Given the description of an element on the screen output the (x, y) to click on. 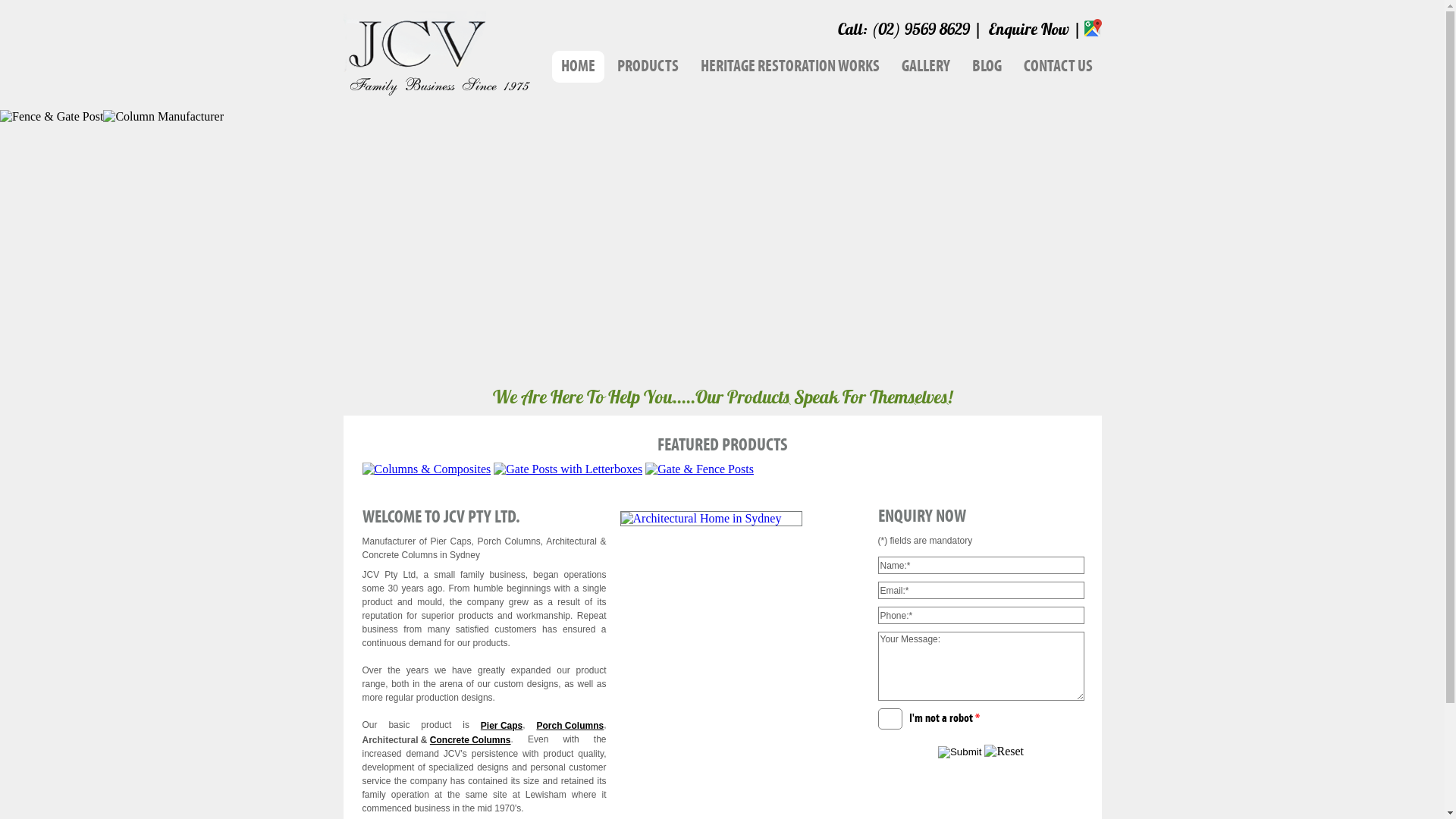
Architectural Home in Sydney Element type: hover (711, 518)
Columns & Composites Element type: hover (426, 468)
Columns & Composites Element type: hover (426, 469)
Fence & Gate Post Element type: hover (51, 116)
Porch Columns Element type: text (569, 725)
I'm not a robot * Element type: text (890, 718)
(02) 9569 8629 Element type: text (918, 28)
phone Element type: hover (981, 615)
Enquire Now Element type: text (1028, 28)
Gate & Fence Posts Element type: hover (699, 468)
email Element type: hover (981, 590)
Google Map Element type: hover (1092, 25)
Pier Caps Element type: text (501, 725)
PRODUCTS Element type: text (647, 66)
CONTACT US Element type: text (1057, 66)
Submit Element type: hover (959, 752)
Testimonials Big Element type: hover (712, 524)
BLOG Element type: text (986, 66)
HOME Element type: text (578, 66)
Gate & Fence Posts Element type: hover (699, 469)
Concrete Columns Element type: text (470, 739)
HERITAGE RESTORATION WORKS Element type: text (789, 66)
JCV Pty Ltd Element type: hover (435, 90)
name Element type: hover (981, 565)
Column Manufacturer Element type: hover (163, 116)
Reset Element type: hover (1003, 751)
GALLERY Element type: text (924, 66)
Gate Posts with Letterboxes Element type: hover (567, 468)
Gate Posts with Letterboxes Element type: hover (567, 469)
